Given the description of an element on the screen output the (x, y) to click on. 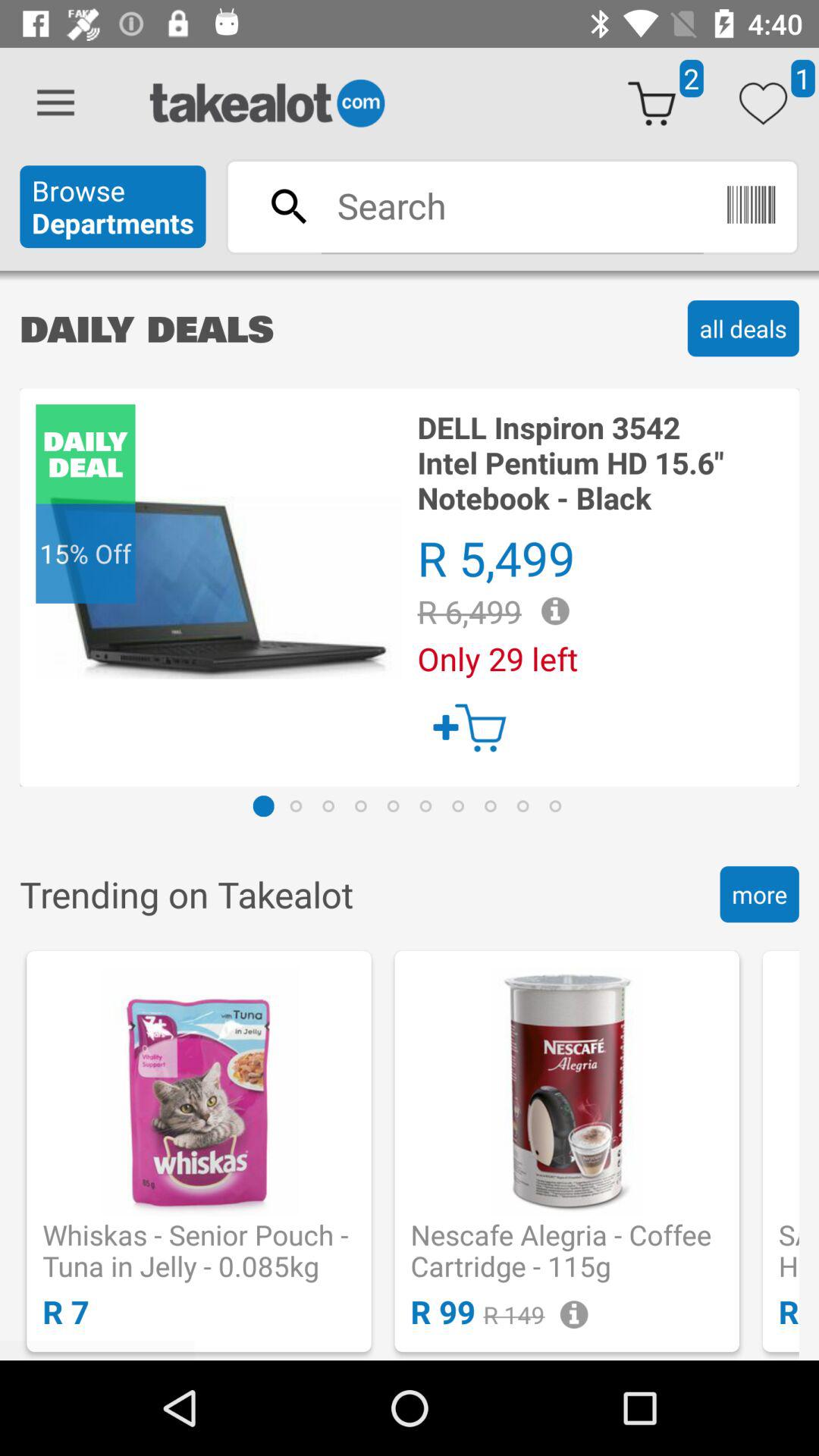
enter to search (512, 205)
